Given the description of an element on the screen output the (x, y) to click on. 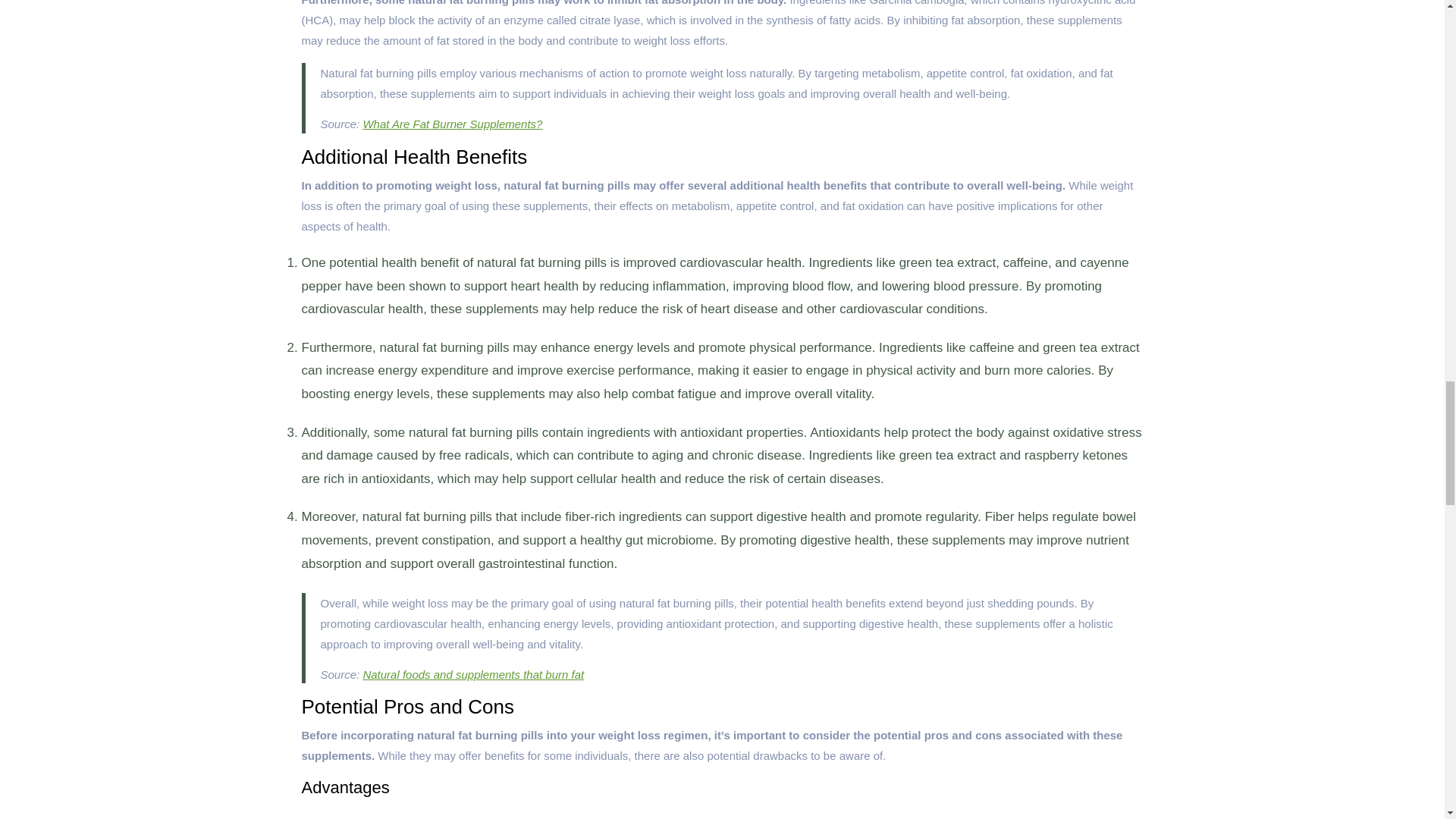
Natural foods and supplements that burn fat (472, 674)
What Are Fat Burner Supplements? (451, 123)
